Given the description of an element on the screen output the (x, y) to click on. 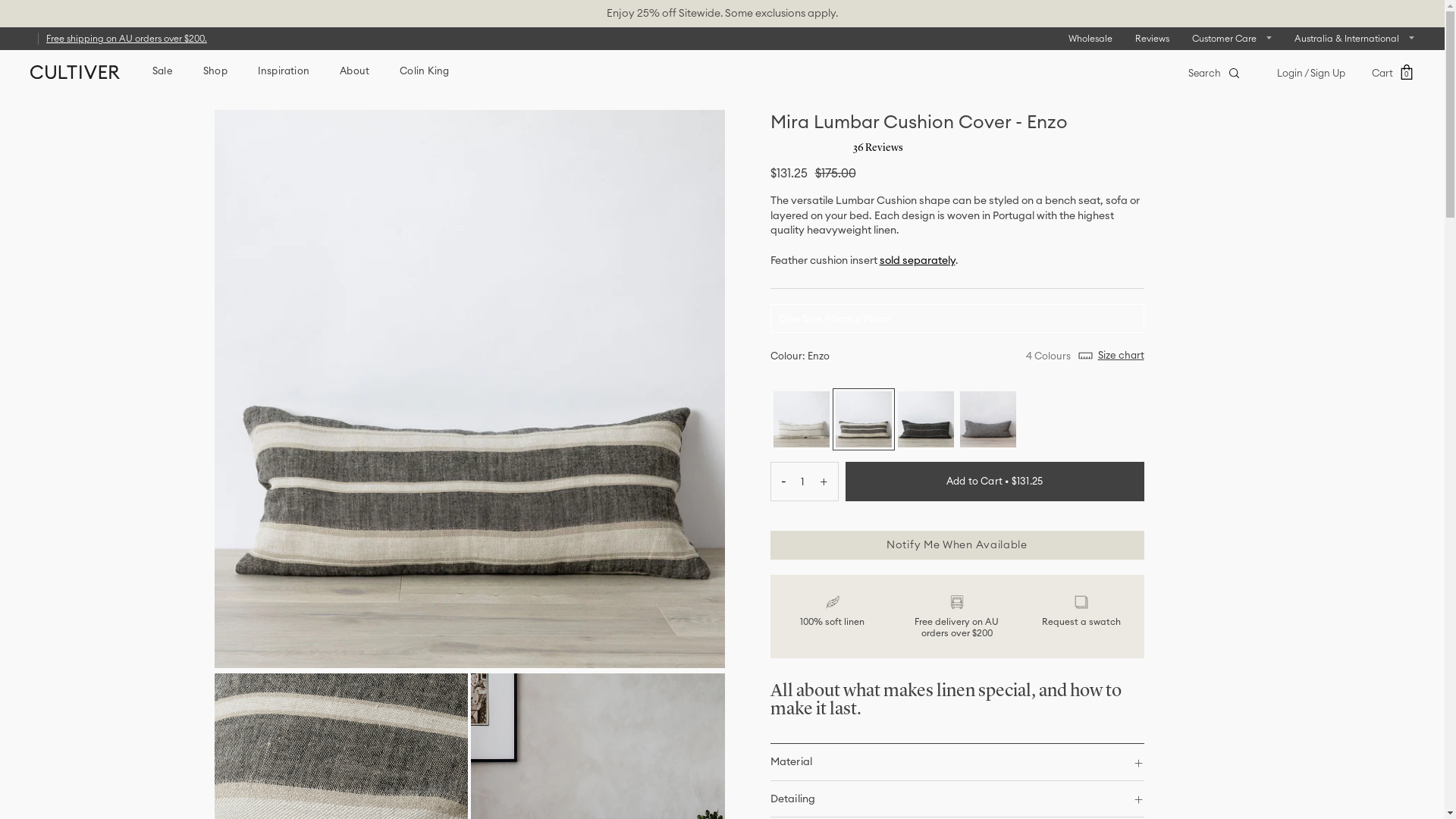
Australia & International Element type: text (1354, 37)
Wholesale Element type: text (1090, 37)
Notify Me When Available Element type: text (957, 544)
- Element type: text (777, 481)
Home Element type: text (223, 89)
Reviews Element type: text (1152, 37)
+ Element type: text (828, 481)
Mira Lumbar Cushion Cover - Enzo Element type: text (300, 89)
Login / Sign Up Element type: text (1311, 72)
Size chart Element type: text (1112, 355)
Search Element type: text (1213, 72)
sold separately Element type: text (917, 259)
Cart
0 Element type: text (1392, 72)
Free shipping on AU orders over $200. Element type: text (126, 37)
Customer Care Element type: text (1231, 37)
